Given the description of an element on the screen output the (x, y) to click on. 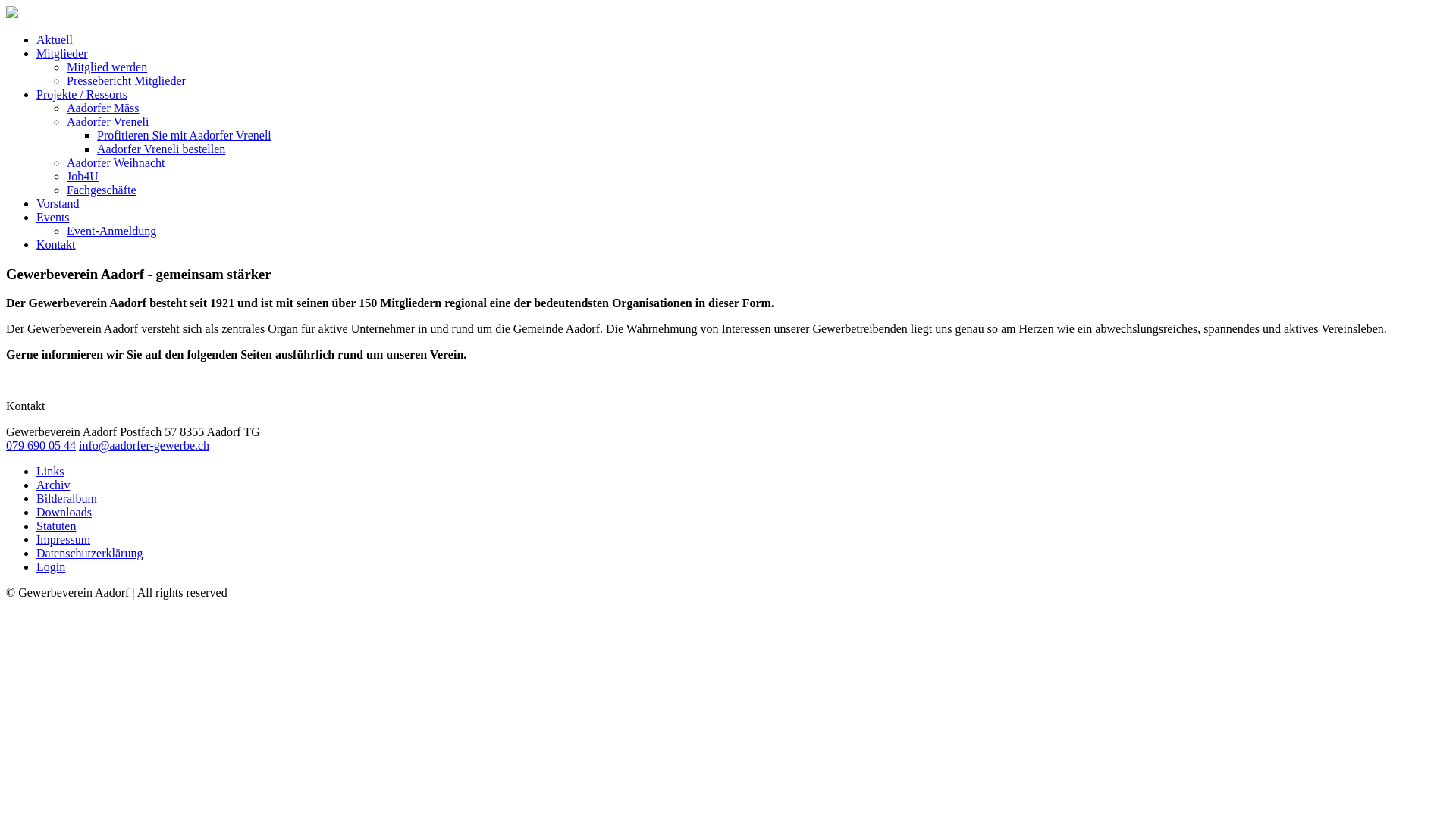
Events Element type: text (52, 216)
Profitieren Sie mit Aadorfer Vreneli Element type: text (184, 134)
Aadorfer Vreneli Element type: text (107, 121)
Bilderalbum Element type: text (66, 498)
079 690 05 44 Element type: text (40, 445)
Aadorfer Weihnacht Element type: text (115, 162)
Vorstand Element type: text (57, 203)
Mitglied werden Element type: text (106, 66)
Downloads Element type: text (63, 511)
Impressum Element type: text (63, 539)
Links Element type: text (49, 470)
Pressebericht Mitglieder Element type: text (125, 80)
Projekte / Ressorts Element type: text (81, 93)
Mitglieder Element type: text (61, 53)
Event-Anmeldung Element type: text (111, 230)
Aktuell Element type: text (54, 39)
Job4U Element type: text (82, 175)
Archiv Element type: text (52, 484)
info@aadorfer-gewerbe.ch Element type: text (143, 445)
Kontakt Element type: text (55, 244)
Statuten Element type: text (55, 525)
Login Element type: text (50, 566)
Aadorfer Vreneli bestellen Element type: text (161, 148)
